Given the description of an element on the screen output the (x, y) to click on. 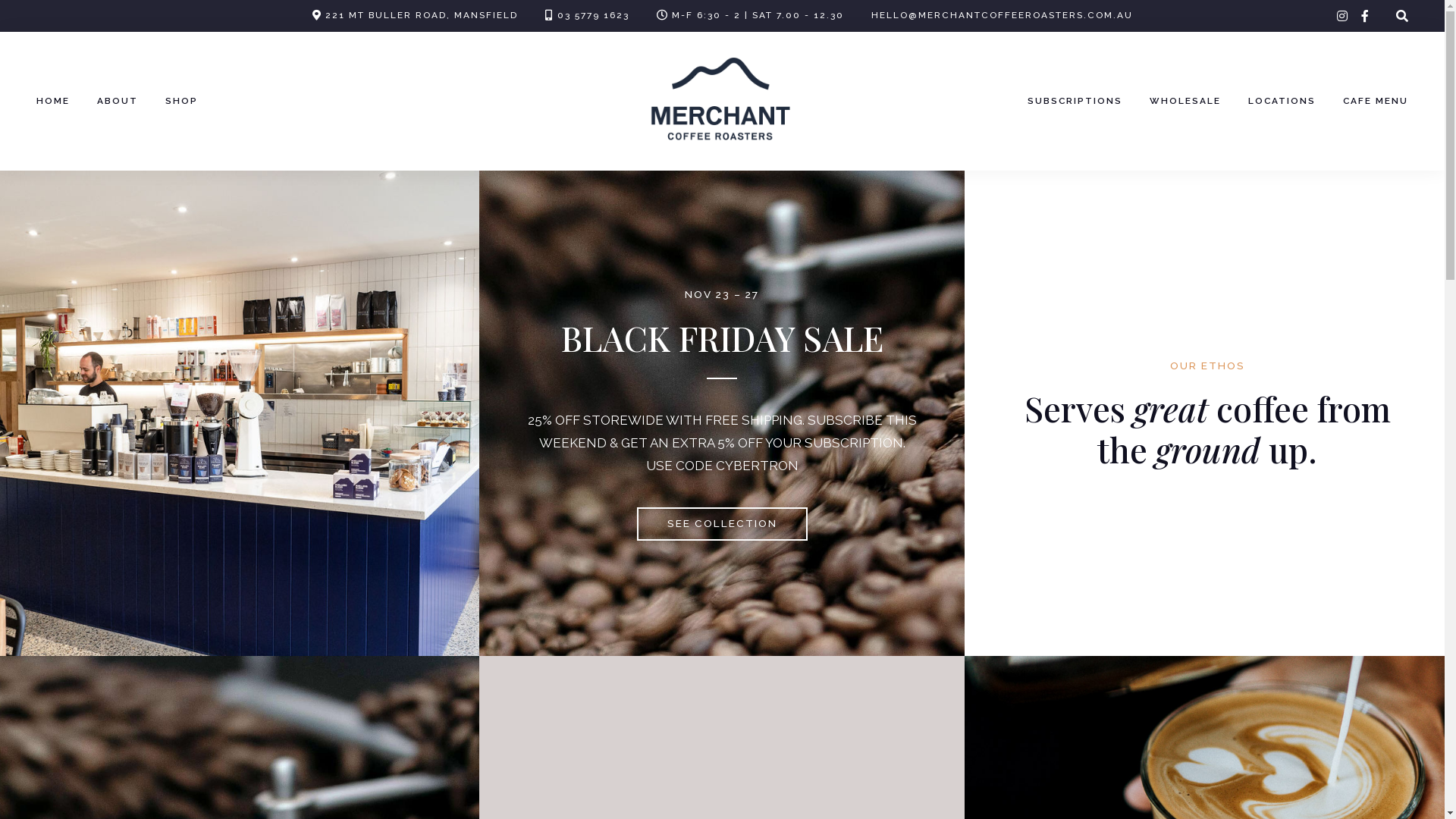
SEE COLLECTION Element type: text (722, 523)
ABOUT Element type: text (117, 101)
SUBSCRIPTIONS Element type: text (1074, 101)
facebook-f Element type: text (1364, 16)
CAFE MENU Element type: text (1375, 101)
HOME Element type: text (52, 101)
SHOP Element type: text (181, 101)
instagram Element type: text (1341, 16)
LOCATIONS Element type: text (1281, 101)
HELLO@MERCHANTCOFFEEROASTERS.COM.AU Element type: text (1001, 14)
WHOLESALE Element type: text (1184, 101)
03 5779 1623 Element type: text (592, 14)
